Given the description of an element on the screen output the (x, y) to click on. 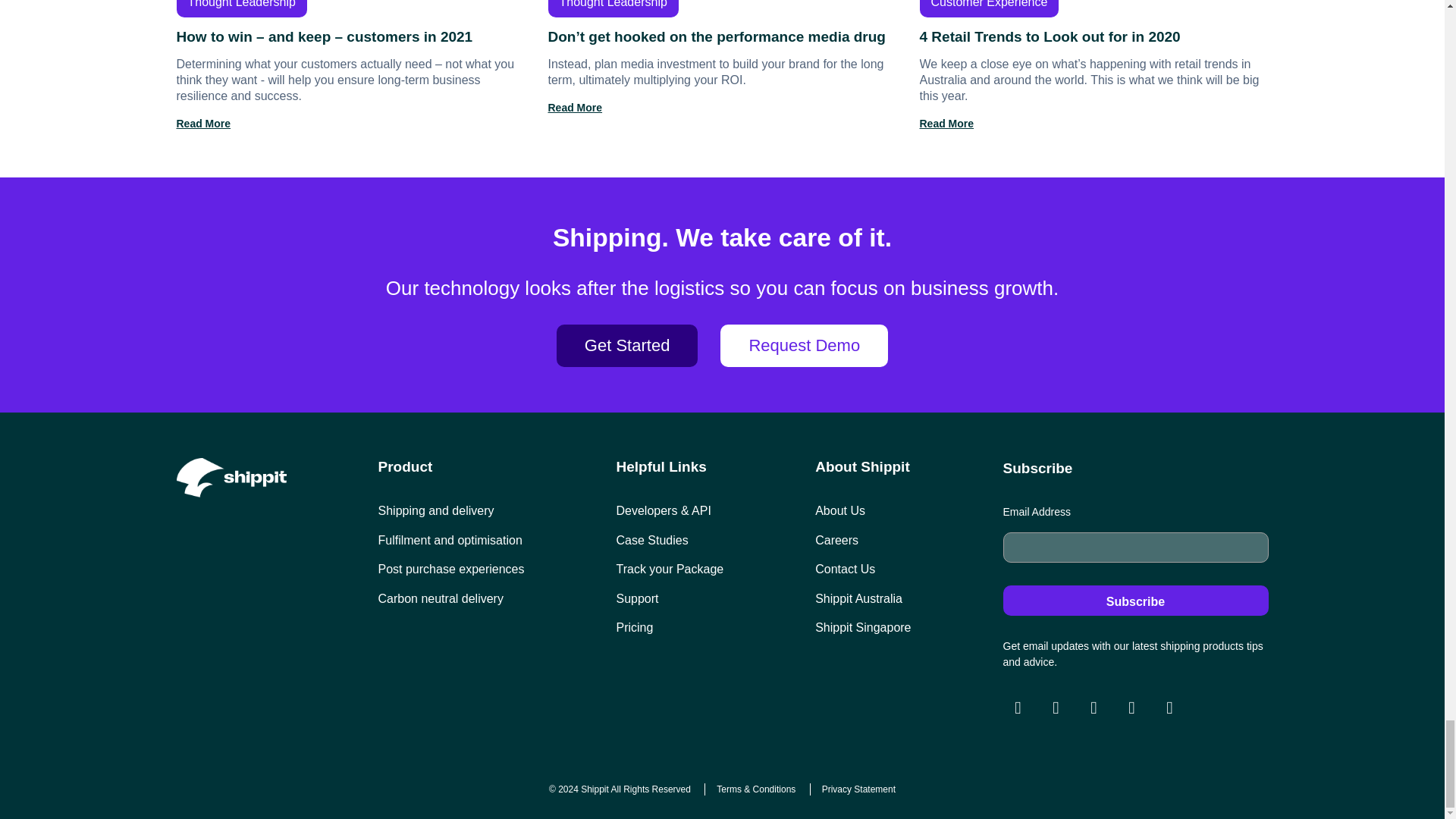
Visit us on Instragram (1017, 707)
4 Retail Trends to Look out for in 2020 (1093, 65)
Visit us on LinkedIn (1131, 707)
Visit us on Twitter (1093, 707)
Subscribe (1135, 600)
Visit us on Facebook (1055, 707)
